Given the description of an element on the screen output the (x, y) to click on. 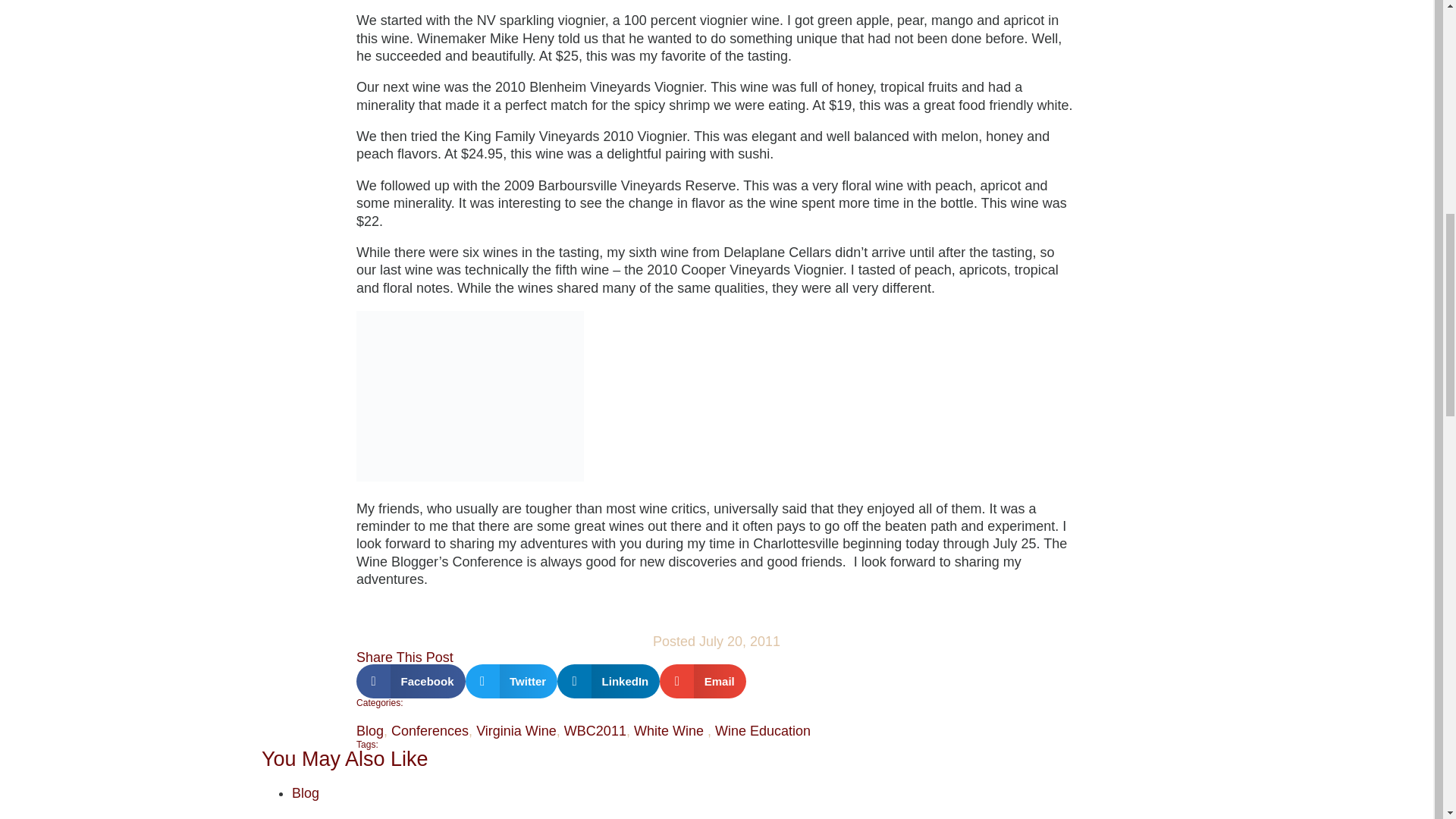
Wine Education (762, 730)
VA Viognier (469, 396)
Conferences (429, 730)
WBC2011 (595, 730)
White Wine  (670, 730)
Virginia Wine (516, 730)
Blog (370, 730)
Blog (305, 792)
